Given the description of an element on the screen output the (x, y) to click on. 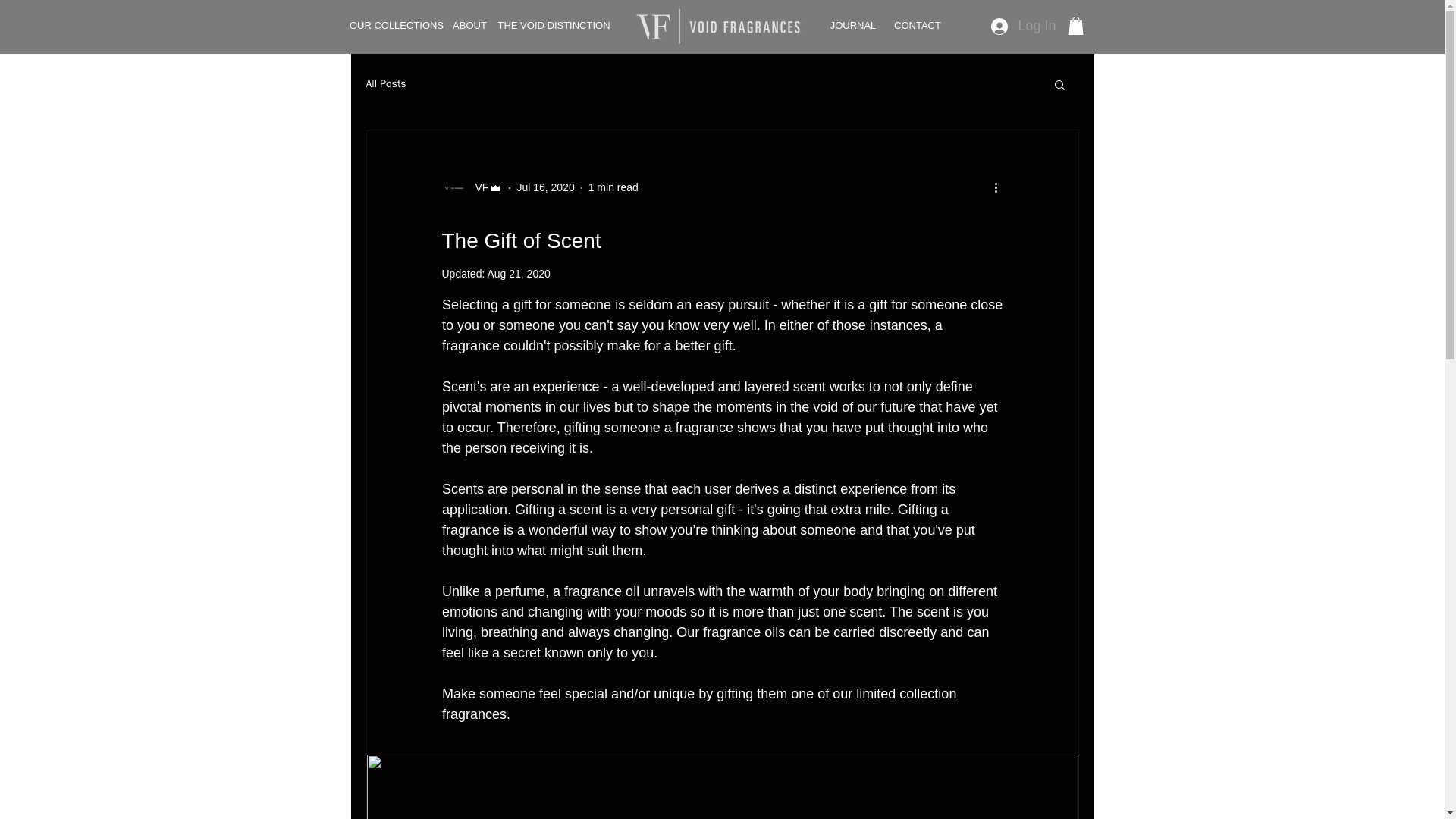
VF (471, 187)
ABOUT (469, 25)
All Posts (385, 83)
VF (476, 187)
CONTACT (917, 25)
Jul 16, 2020 (544, 186)
JOURNAL (852, 25)
THE VOID DISTINCTION (553, 25)
Log In (1020, 26)
OUR COLLECTIONS (396, 25)
